Given the description of an element on the screen output the (x, y) to click on. 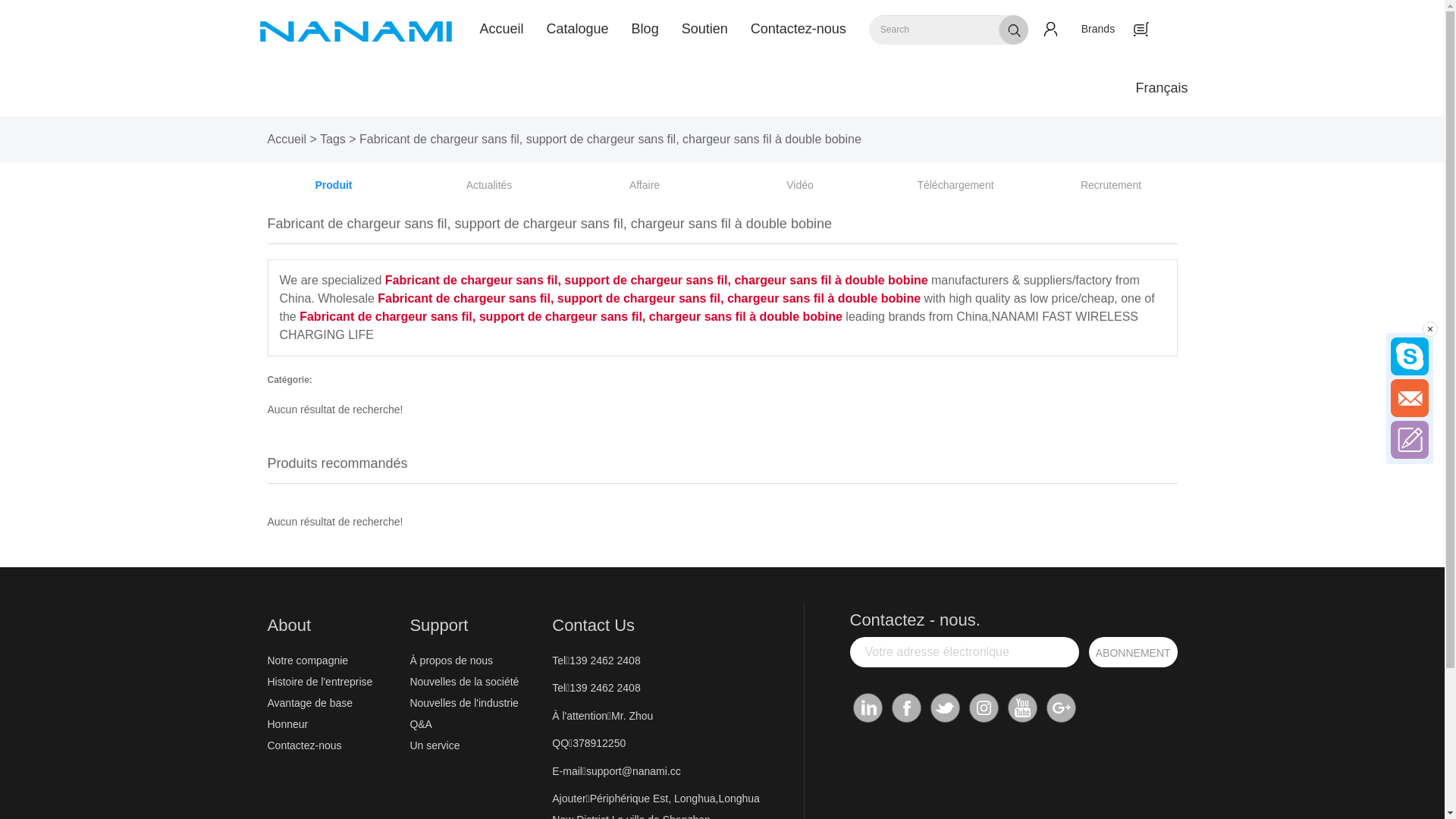
Accueil Element type: text (501, 29)
Histoire de l'entreprise Element type: text (333, 681)
Q&A Element type: text (476, 723)
Honneur Element type: text (333, 723)
Un service Element type: text (476, 745)
Catalogue Element type: text (577, 29)
Contactez-nous Element type: text (333, 745)
Soutien Element type: text (704, 29)
Accueil Element type: text (286, 138)
Notre compagnie Element type: text (333, 660)
Avantage de base Element type: text (333, 702)
Affaire Element type: text (644, 184)
Produit Element type: text (333, 184)
Recrutement Element type: text (1110, 184)
Blog Element type: text (645, 29)
Tags Element type: text (332, 138)
Contactez-nous Element type: text (798, 29)
ABONNEMENT Element type: text (1132, 652)
Nouvelles de l'industrie Element type: text (476, 702)
